Given the description of an element on the screen output the (x, y) to click on. 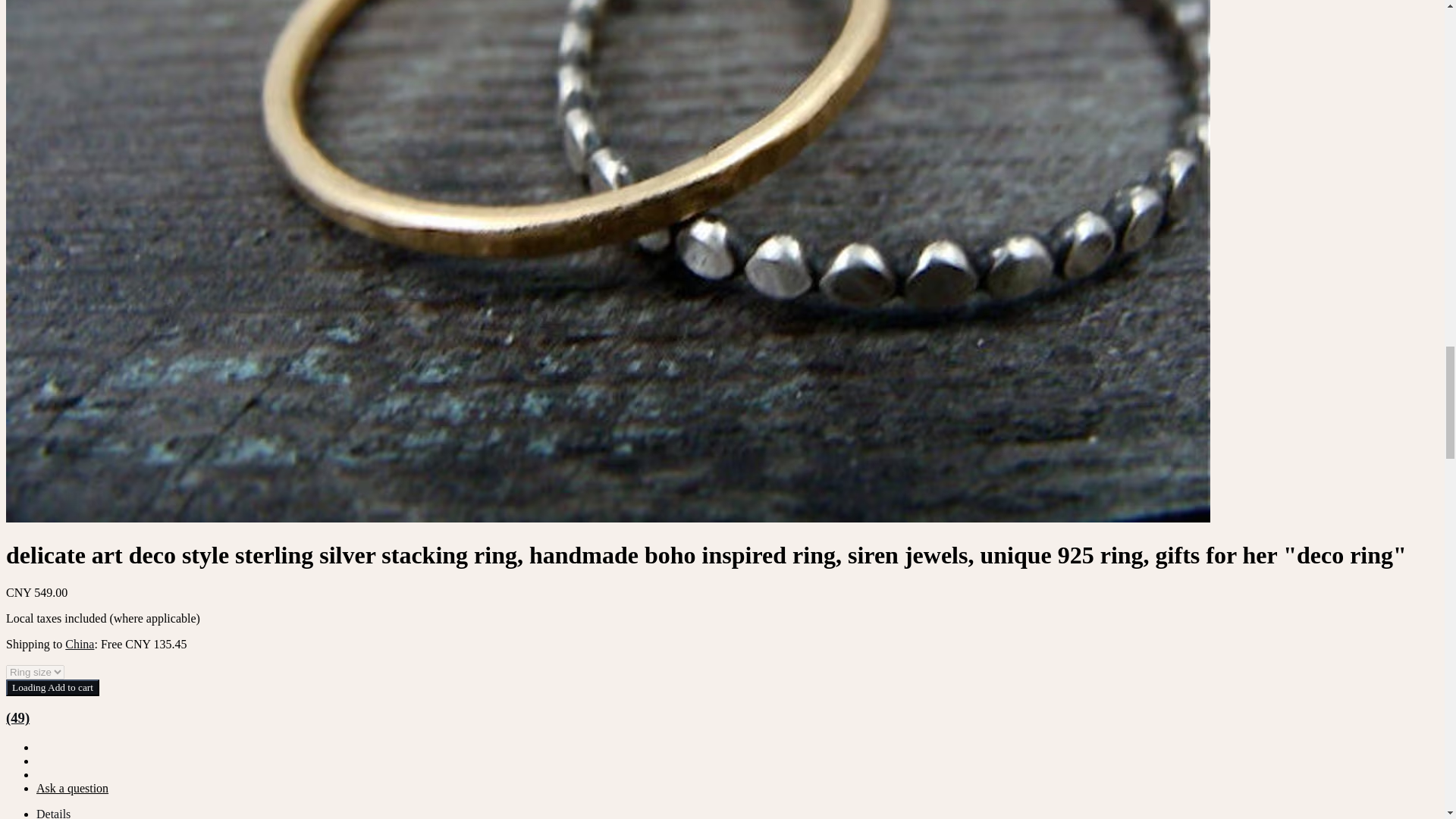
Details (52, 813)
China (79, 644)
Ask a question (71, 788)
Loading Add to cart (52, 687)
